Given the description of an element on the screen output the (x, y) to click on. 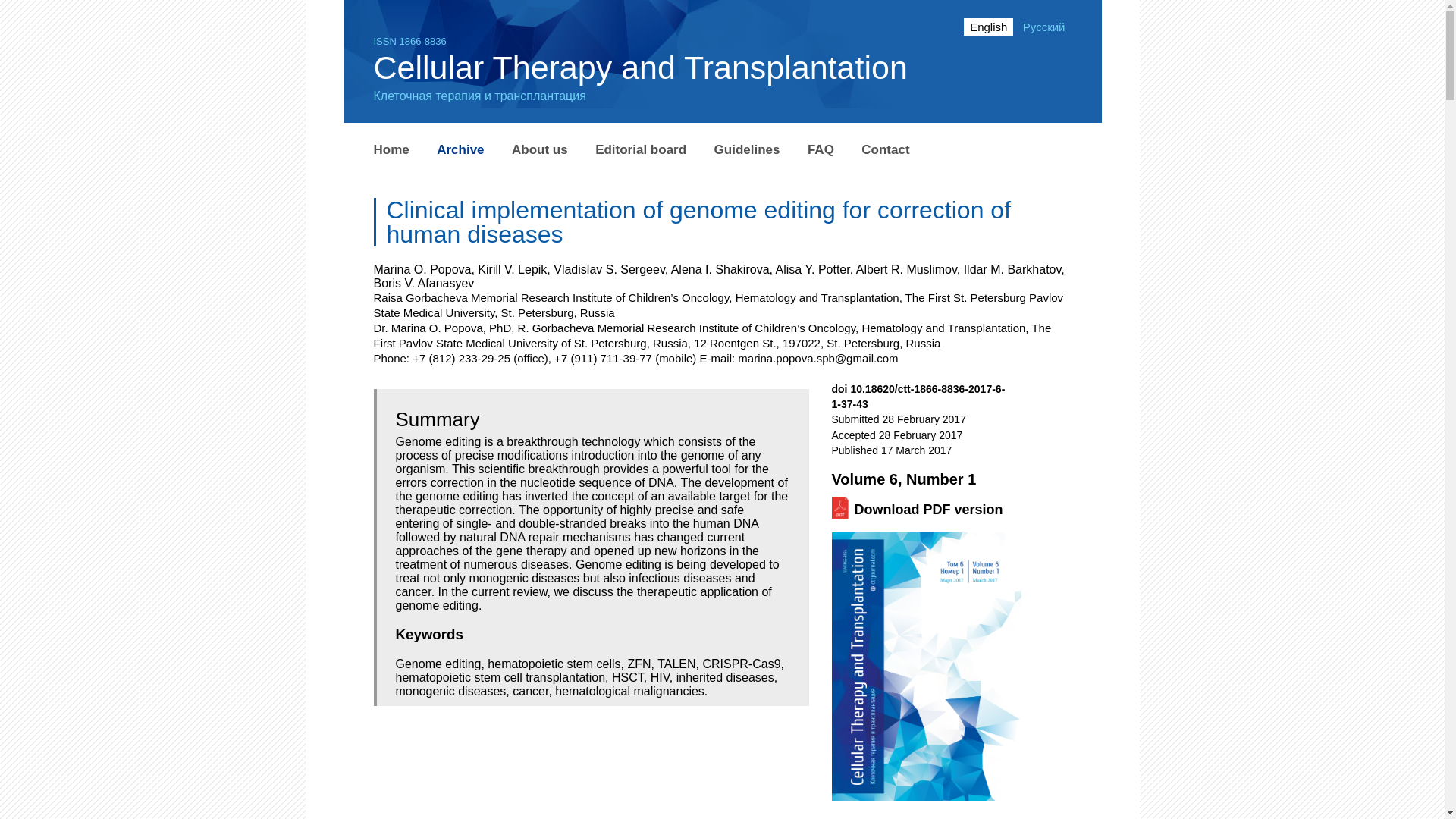
About us (539, 150)
FAQ (821, 150)
Archive (459, 150)
Editorial board (640, 150)
Download PDF version (928, 509)
Guidelines (747, 150)
Contact (884, 150)
Cellular Therapy and Transplantation (639, 67)
English (988, 27)
Home (390, 150)
